Given the description of an element on the screen output the (x, y) to click on. 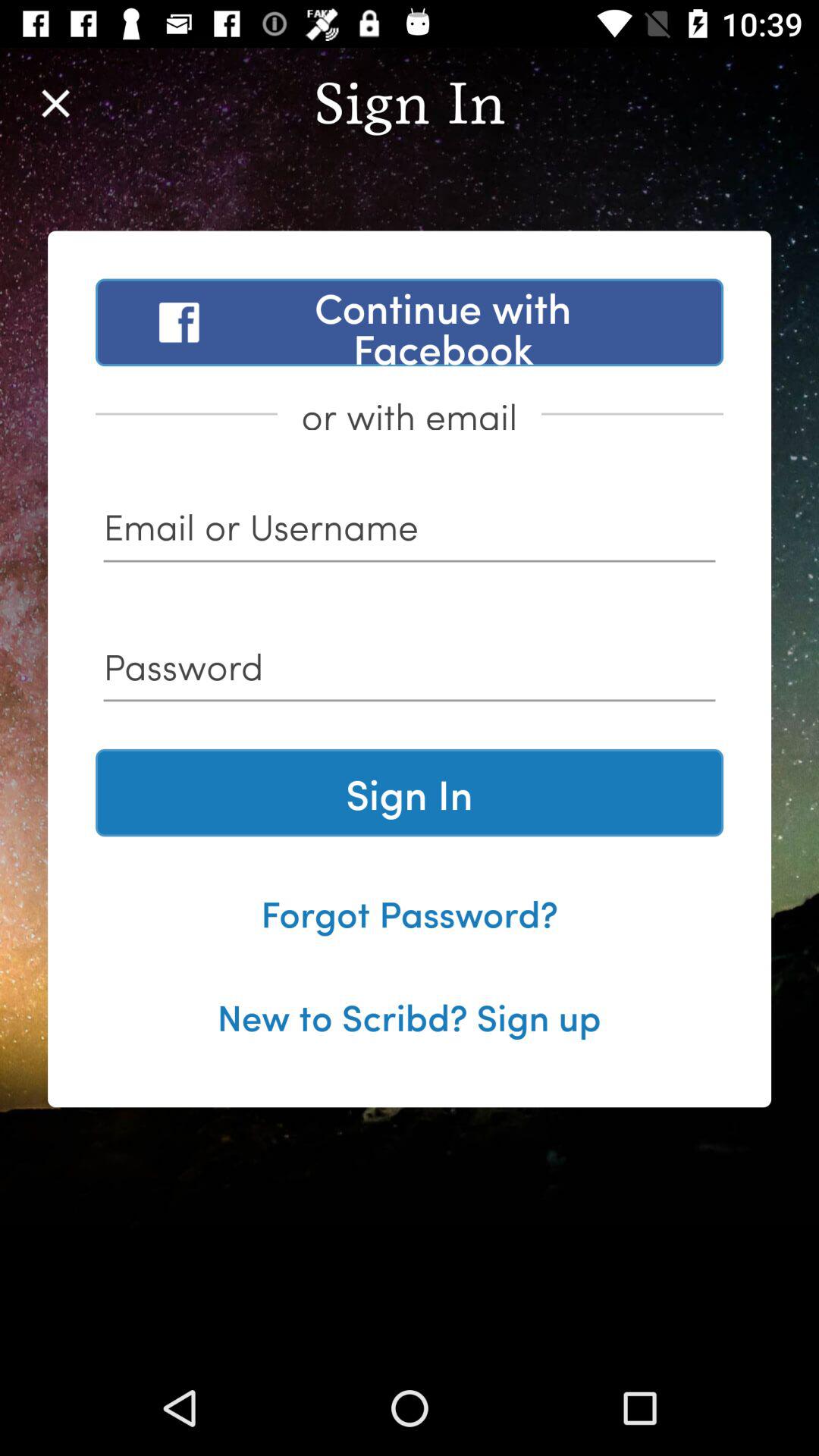
choose the item above the sign in icon (409, 671)
